Given the description of an element on the screen output the (x, y) to click on. 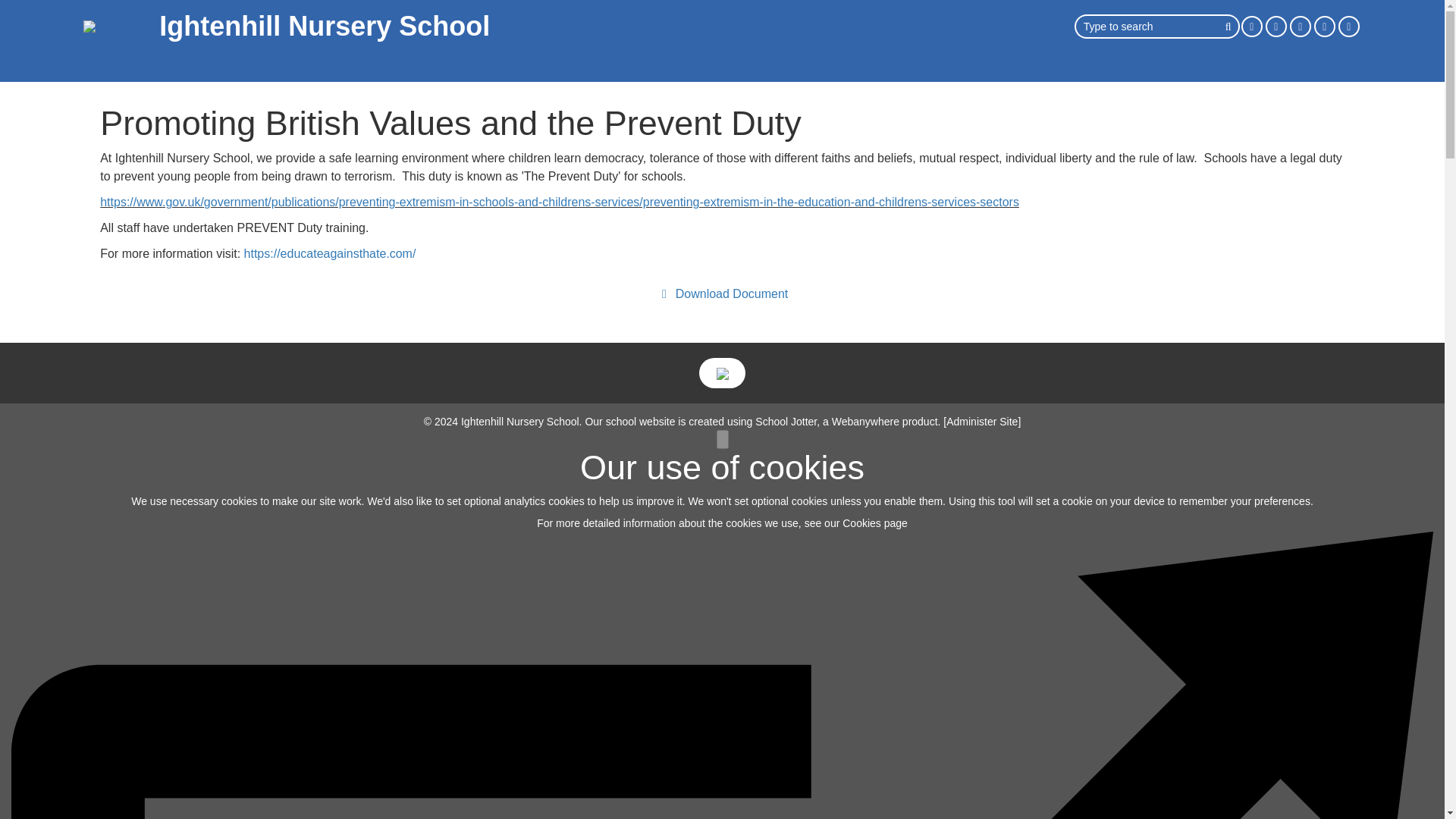
Facebook (1251, 26)
Search (1229, 26)
